Given the description of an element on the screen output the (x, y) to click on. 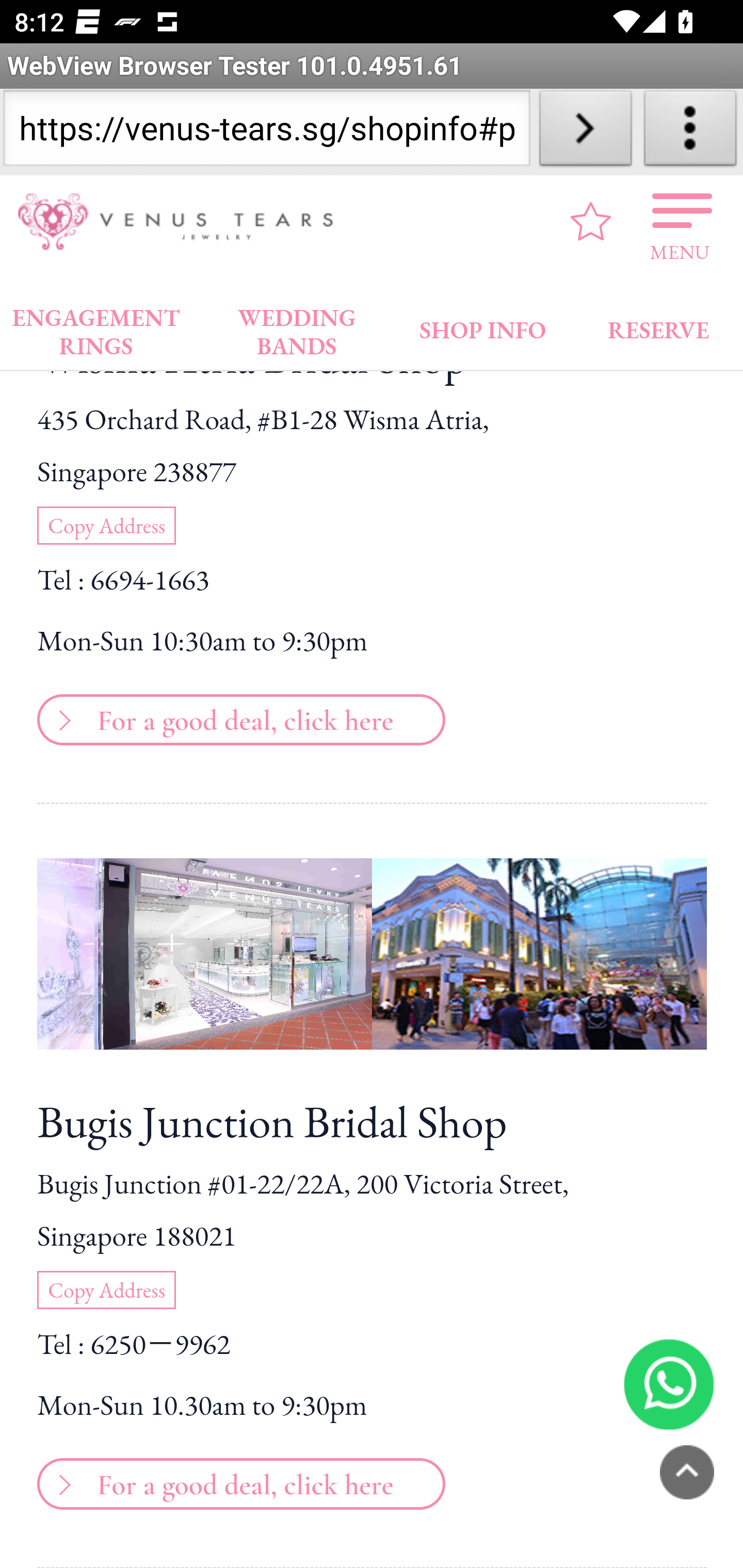
https://venus-tears.sg/shopinfo#pagetop (266, 132)
Load URL (585, 132)
About WebView (690, 132)
favourite (591, 220)
MENU (680, 221)
VENUS TEARS (181, 221)
ENGAGEMENT RINGS ENGAGEMENT RINGS (96, 327)
WEDDING BANDS WEDDING BANDS (296, 327)
SHOP INFO (482, 325)
RESERVE (657, 325)
Copy Address (106, 525)
For a good deal, click here (238, 716)
Bugis Junction Bridal Shop (372, 1121)
Copy Address (106, 1290)
6585184875 (668, 1384)
PAGETOP (686, 1472)
For a good deal, click here (238, 1480)
